Given the description of an element on the screen output the (x, y) to click on. 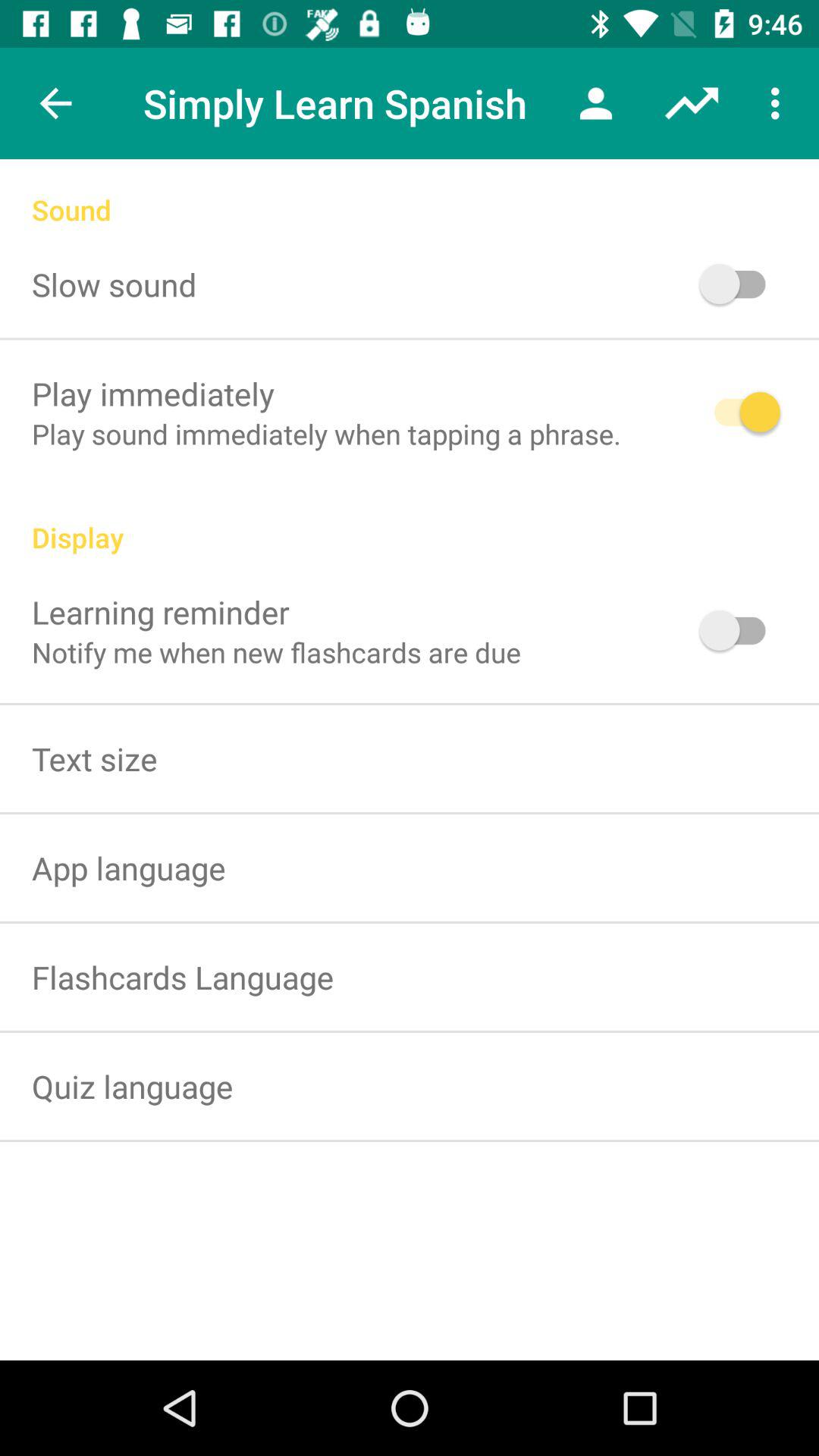
open the icon below display icon (160, 611)
